Given the description of an element on the screen output the (x, y) to click on. 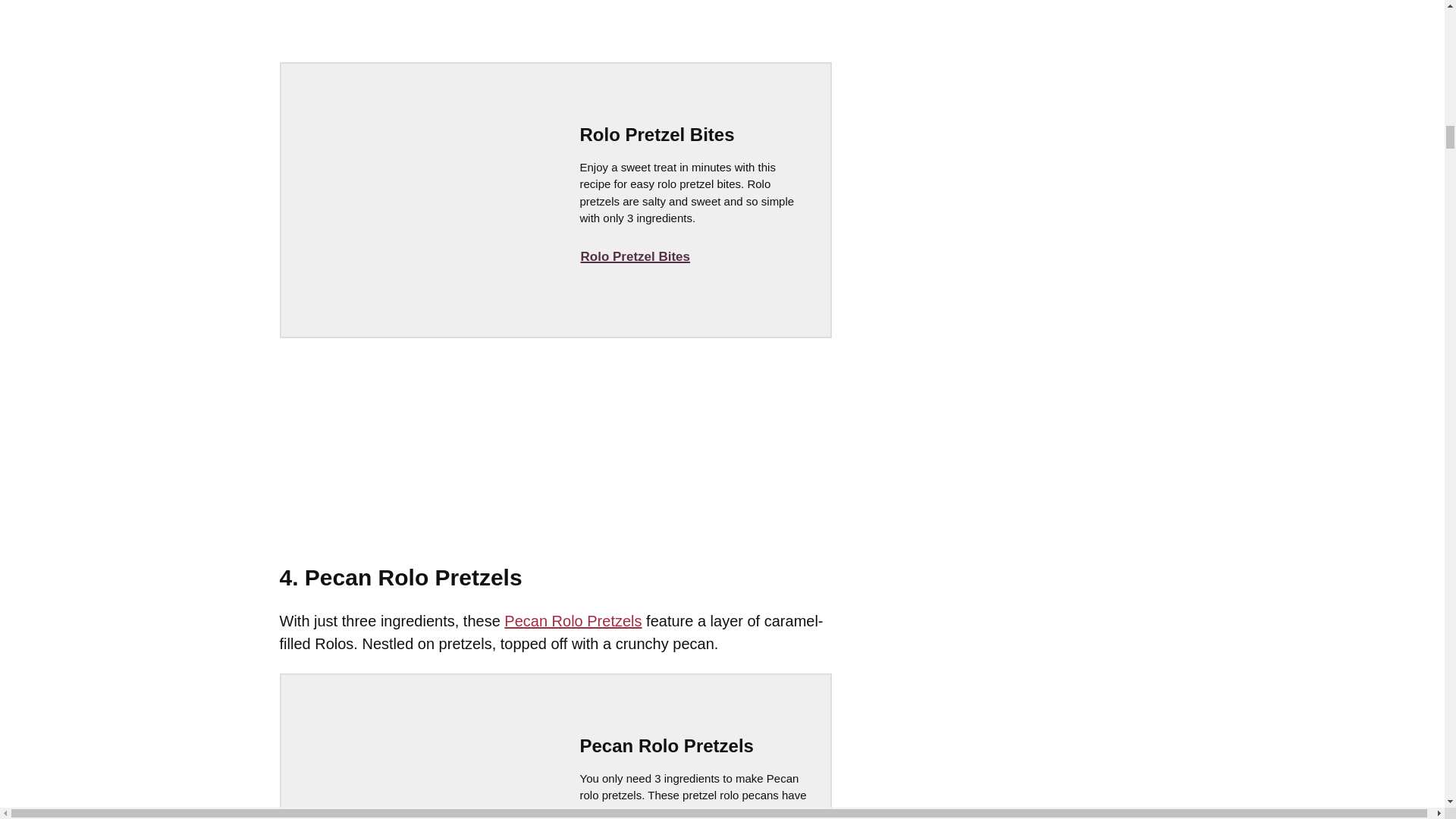
Pecan Rolo Pretzels (572, 620)
Rolo Pretzel Bites (634, 256)
